Given the description of an element on the screen output the (x, y) to click on. 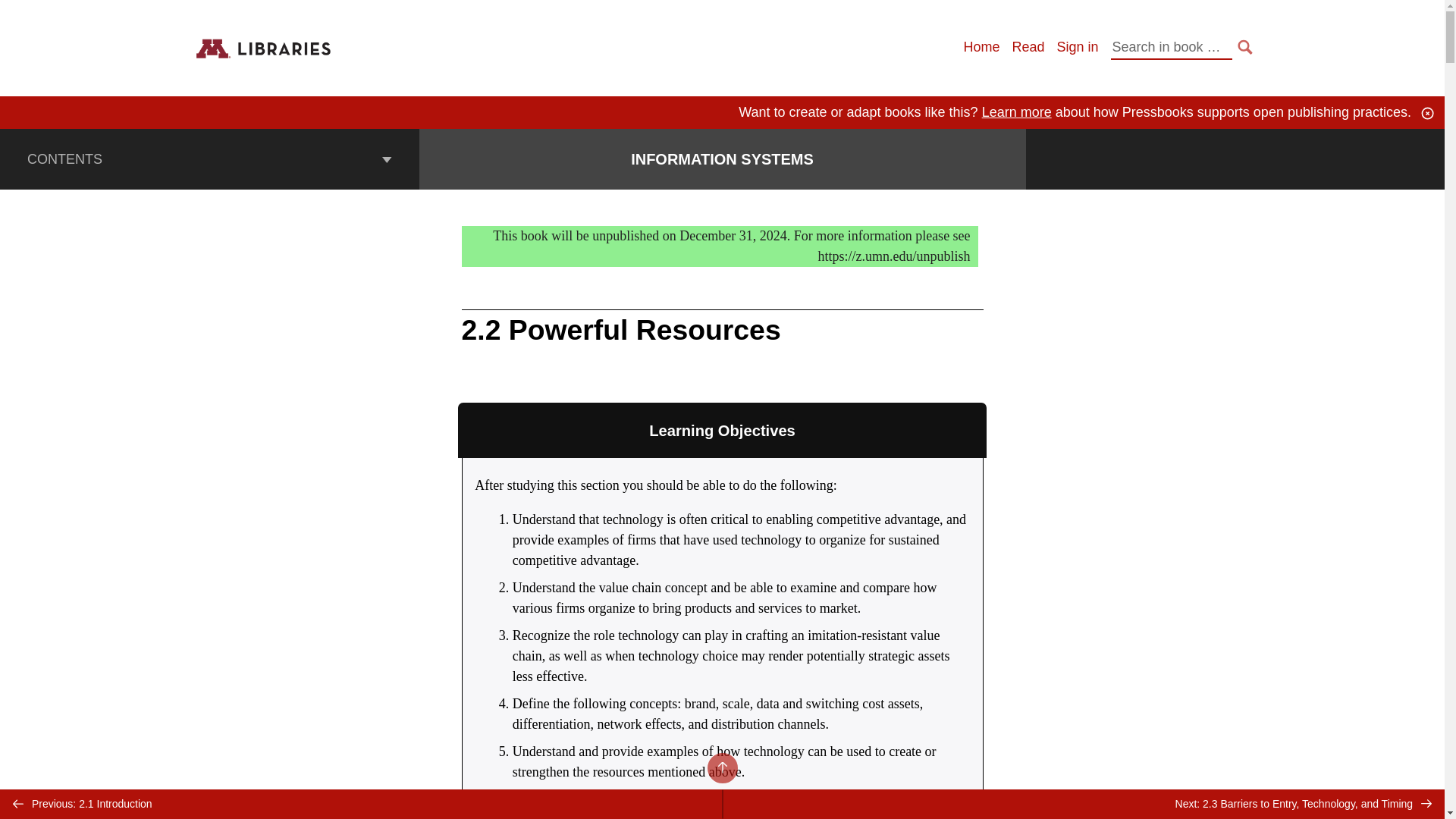
INFORMATION SYSTEMS (721, 159)
Learn more (1016, 111)
Previous: 2.1 Introduction (361, 804)
Sign in (1077, 46)
Read (1027, 46)
Previous: 2.1 Introduction (361, 804)
BACK TO TOP (721, 767)
CONTENTS (209, 158)
Home (980, 46)
